Given the description of an element on the screen output the (x, y) to click on. 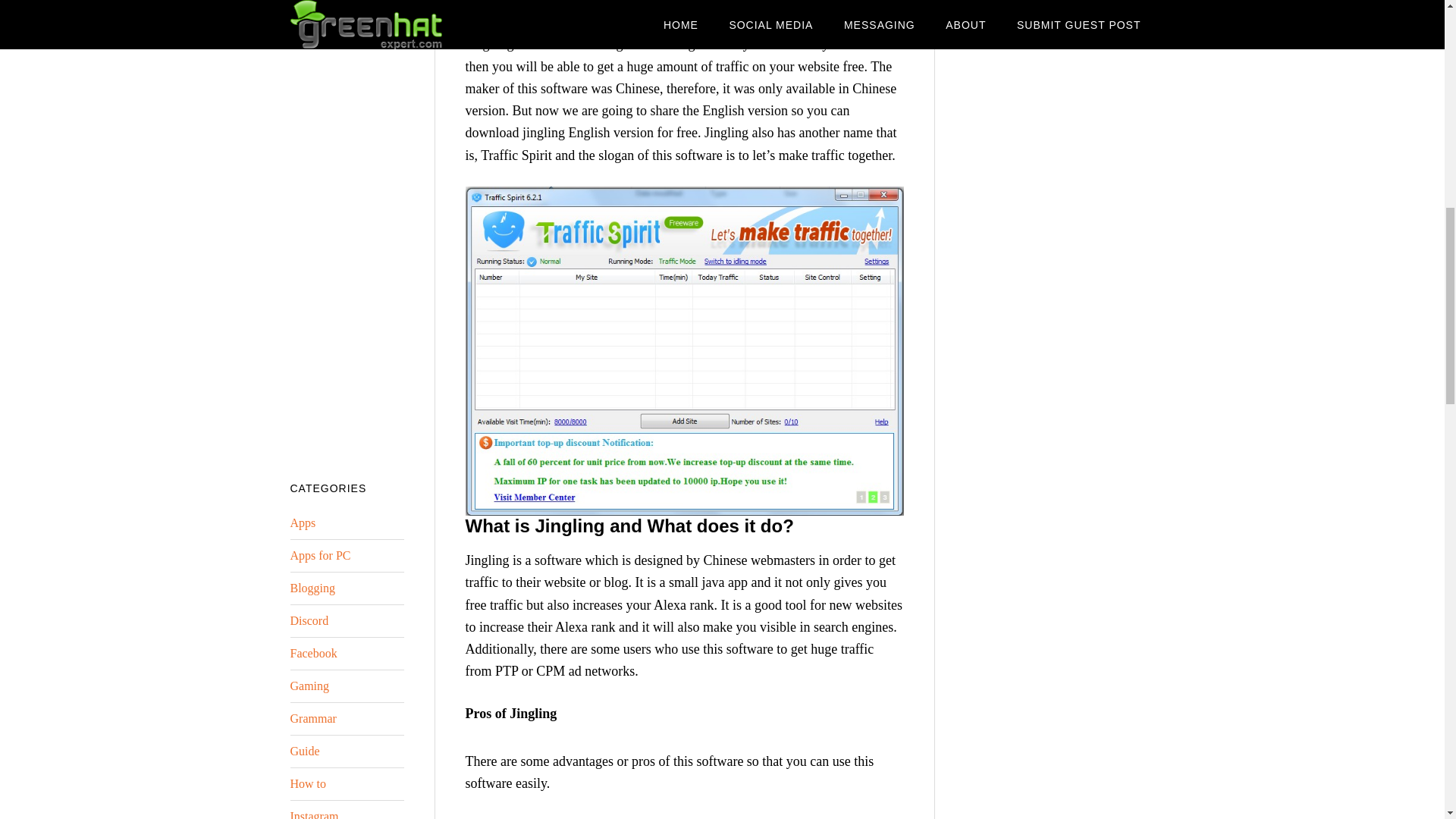
Advertisement (1058, 528)
Advertisement (346, 222)
